Given the description of an element on the screen output the (x, y) to click on. 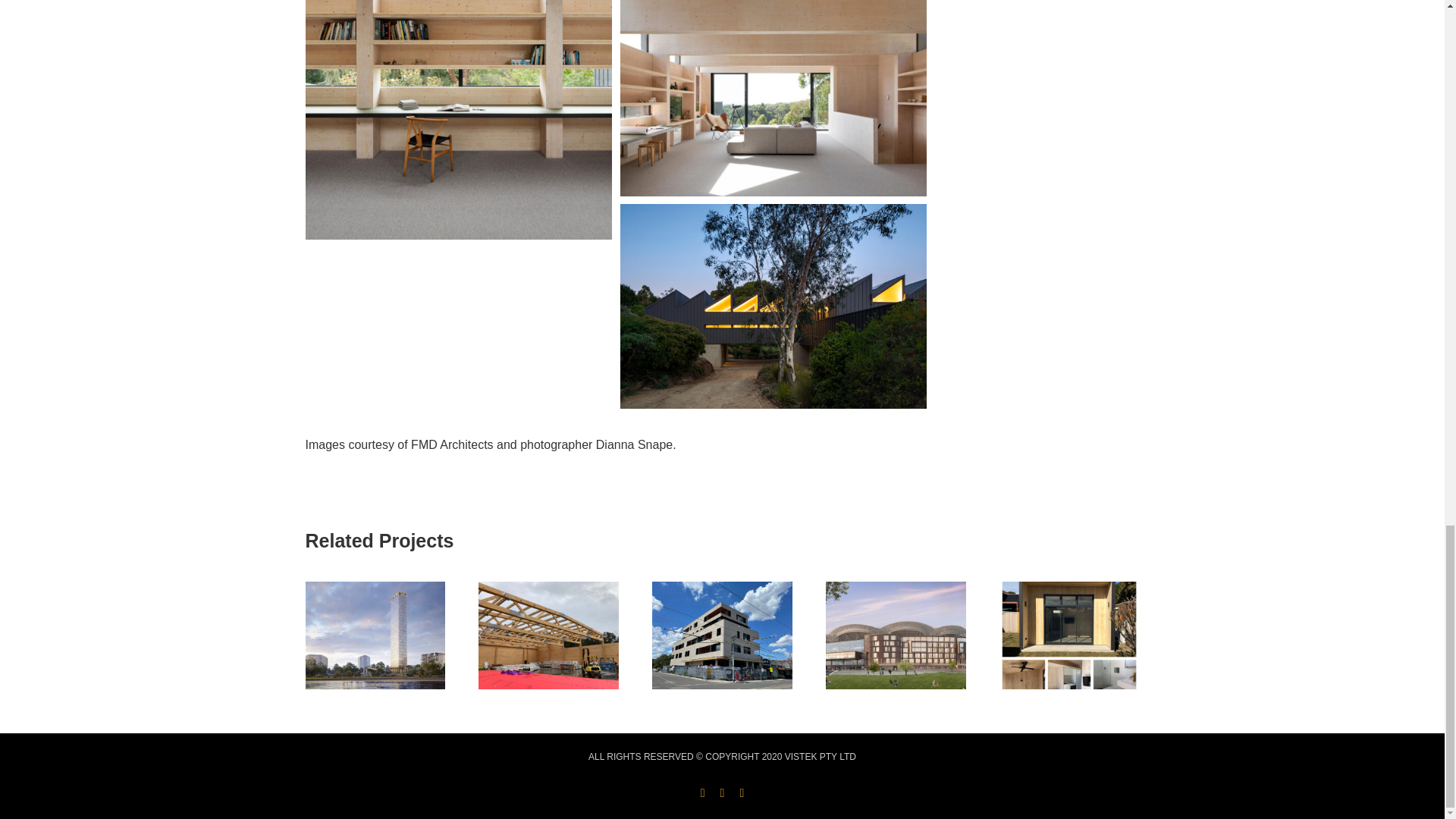
CLT House extension (773, 98)
CLT House bridge (457, 119)
CLT House evening (773, 305)
